Given the description of an element on the screen output the (x, y) to click on. 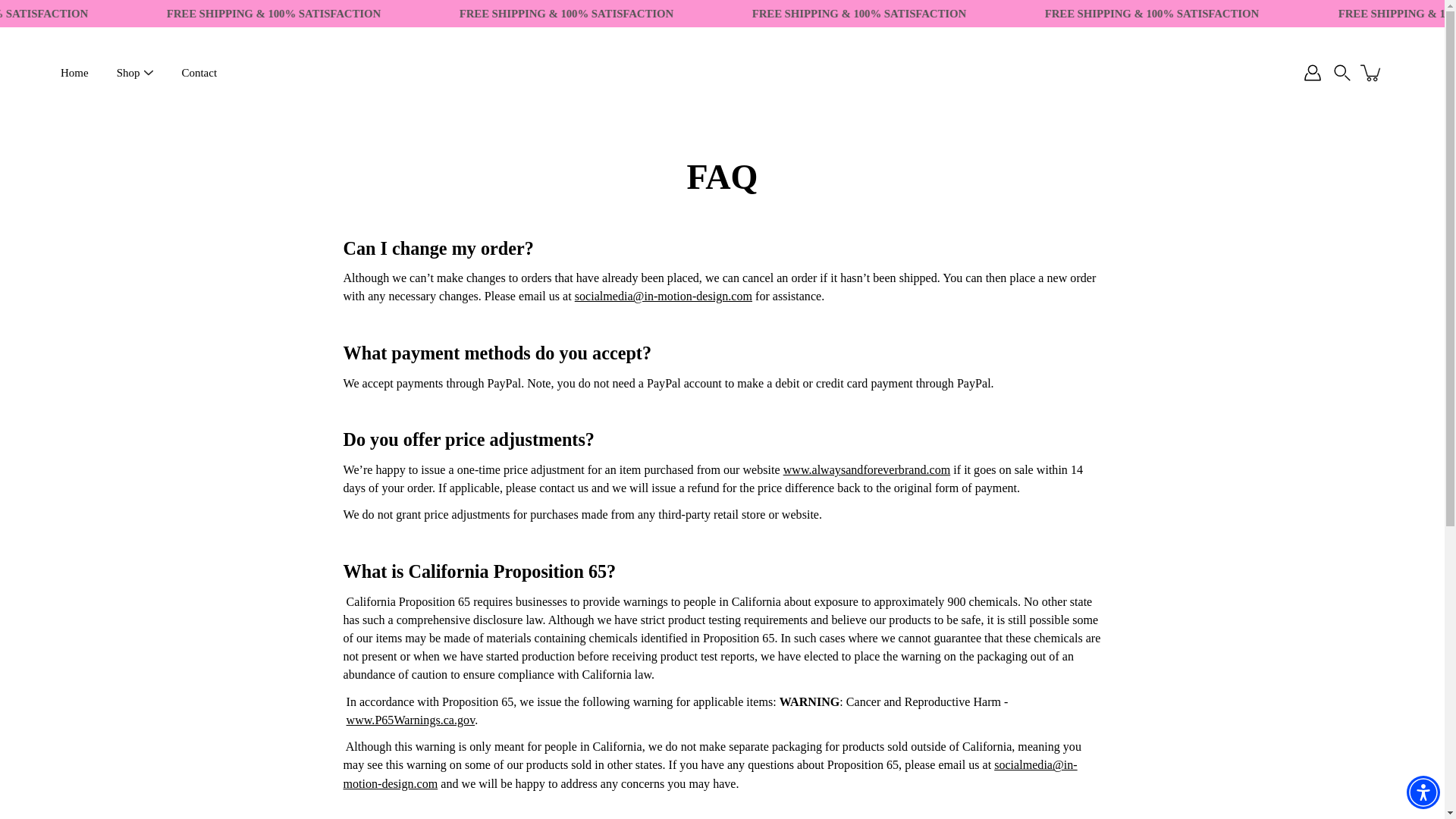
Contact (198, 72)
Home (74, 72)
Accessibility Menu (1422, 792)
Search (1342, 72)
Shop (127, 72)
